Given the description of an element on the screen output the (x, y) to click on. 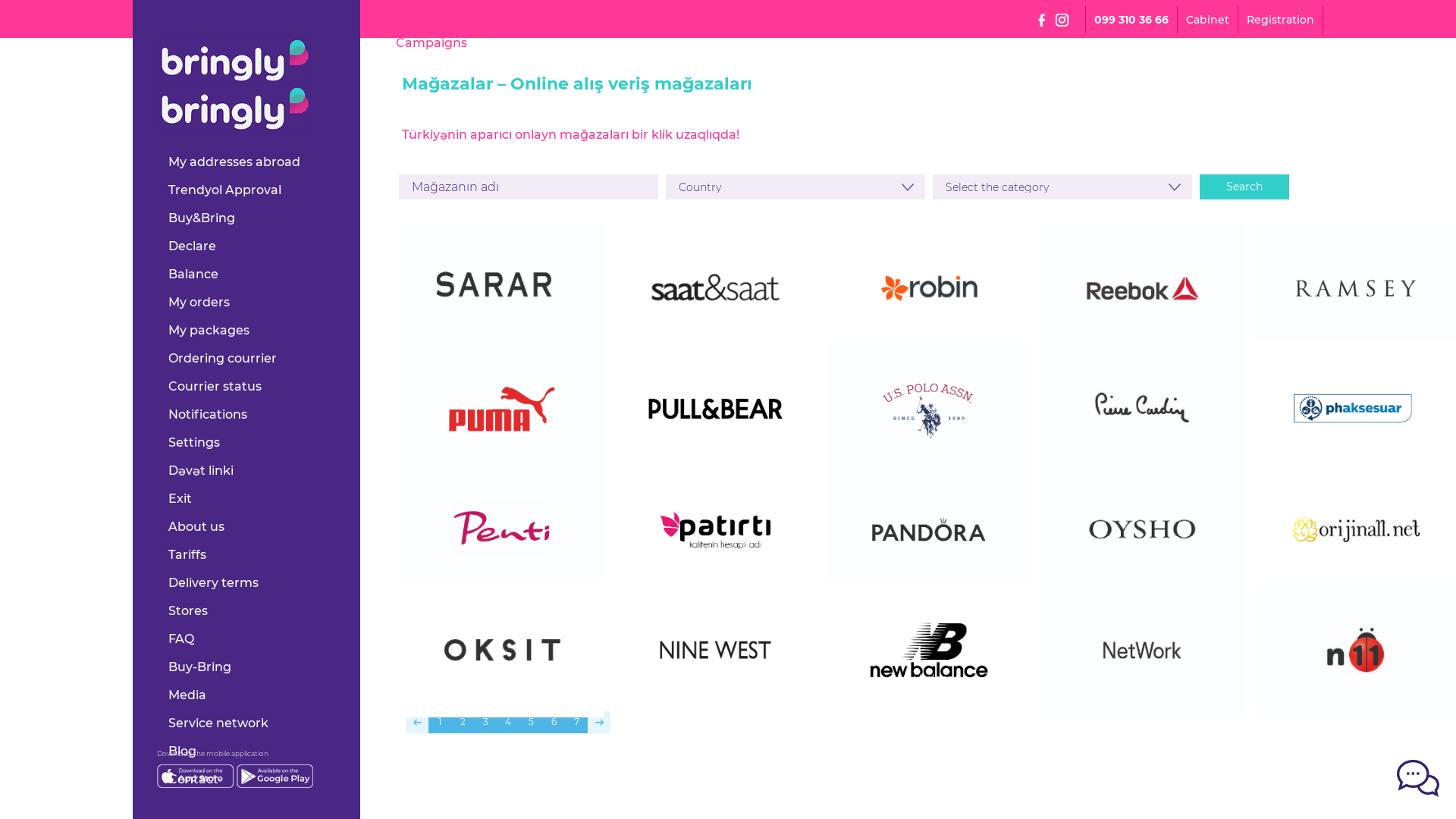
Exit Element type: text (179, 498)
Notifications Element type: text (207, 414)
Search Element type: text (1244, 186)
sarar Element type: text (501, 316)
5 Element type: text (530, 721)
My orders Element type: text (198, 301)
Blog Element type: text (182, 750)
4 Element type: text (507, 721)
network Element type: text (1142, 678)
Ordering courrier Element type: text (222, 358)
Registration Element type: text (1280, 19)
ninewest Element type: text (715, 678)
099 310 36 66 Element type: text (1131, 19)
7 Element type: text (575, 721)
FAQ Element type: text (181, 638)
penti Element type: text (501, 558)
saatvesaat Element type: text (715, 316)
polo Element type: text (928, 437)
pandora Element type: text (928, 558)
6 Element type: text (553, 721)
1 Element type: text (439, 721)
reebok Element type: text (1142, 316)
robin Element type: text (928, 316)
pierrecardin Element type: text (1142, 437)
About us Element type: text (196, 526)
oksit Element type: text (501, 678)
oysho Element type: text (1142, 558)
Tariffs Element type: text (187, 554)
Contact Element type: text (193, 778)
Courrier status Element type: text (214, 386)
Trendyol Approval Element type: text (224, 189)
puma Element type: text (501, 437)
Media Element type: text (187, 694)
Settings Element type: text (193, 442)
Stores Element type: text (187, 610)
Buy-Bring Element type: text (199, 666)
Campaigns Element type: text (431, 42)
Service network Element type: text (218, 722)
Balance Element type: text (193, 273)
Buy&Bring Element type: text (201, 217)
newbalance Element type: text (928, 678)
3 Element type: text (484, 721)
pullandbear Element type: text (715, 437)
Delivery terms Element type: text (213, 582)
Declare Element type: text (192, 245)
2 Element type: text (462, 721)
My packages Element type: text (208, 330)
Cabinet Element type: text (1207, 19)
My addresses abroad Element type: text (234, 161)
patirti Element type: text (715, 558)
